Given the description of an element on the screen output the (x, y) to click on. 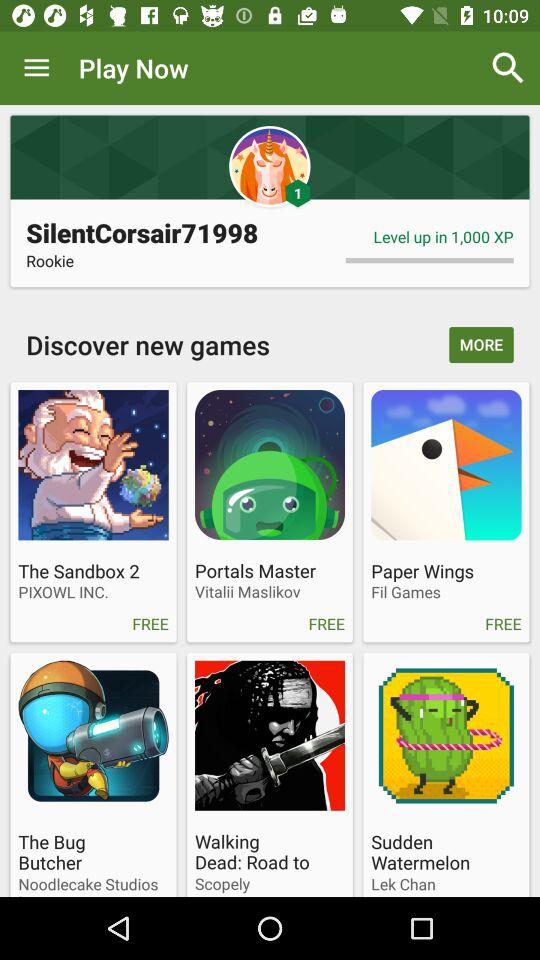
flip until more (481, 344)
